Given the description of an element on the screen output the (x, y) to click on. 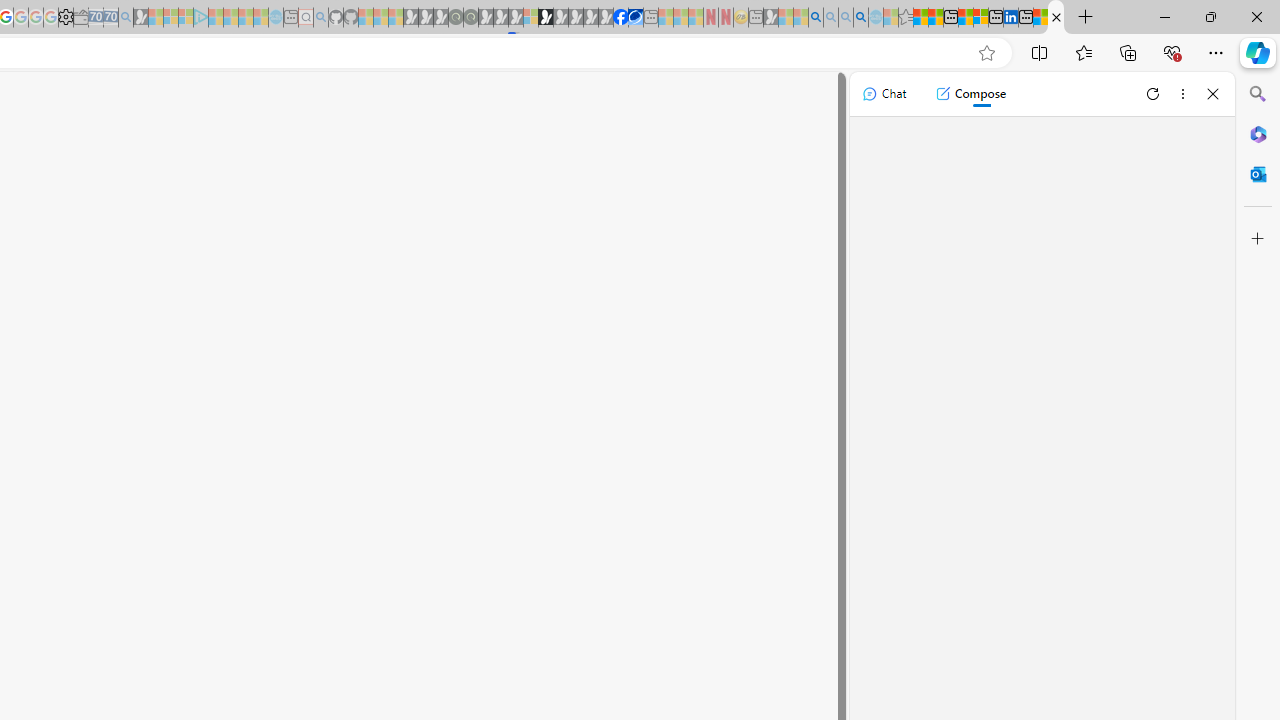
github - Search - Sleeping (320, 17)
Google Chrome Internet Browser Download - Search Images (860, 17)
